Given the description of an element on the screen output the (x, y) to click on. 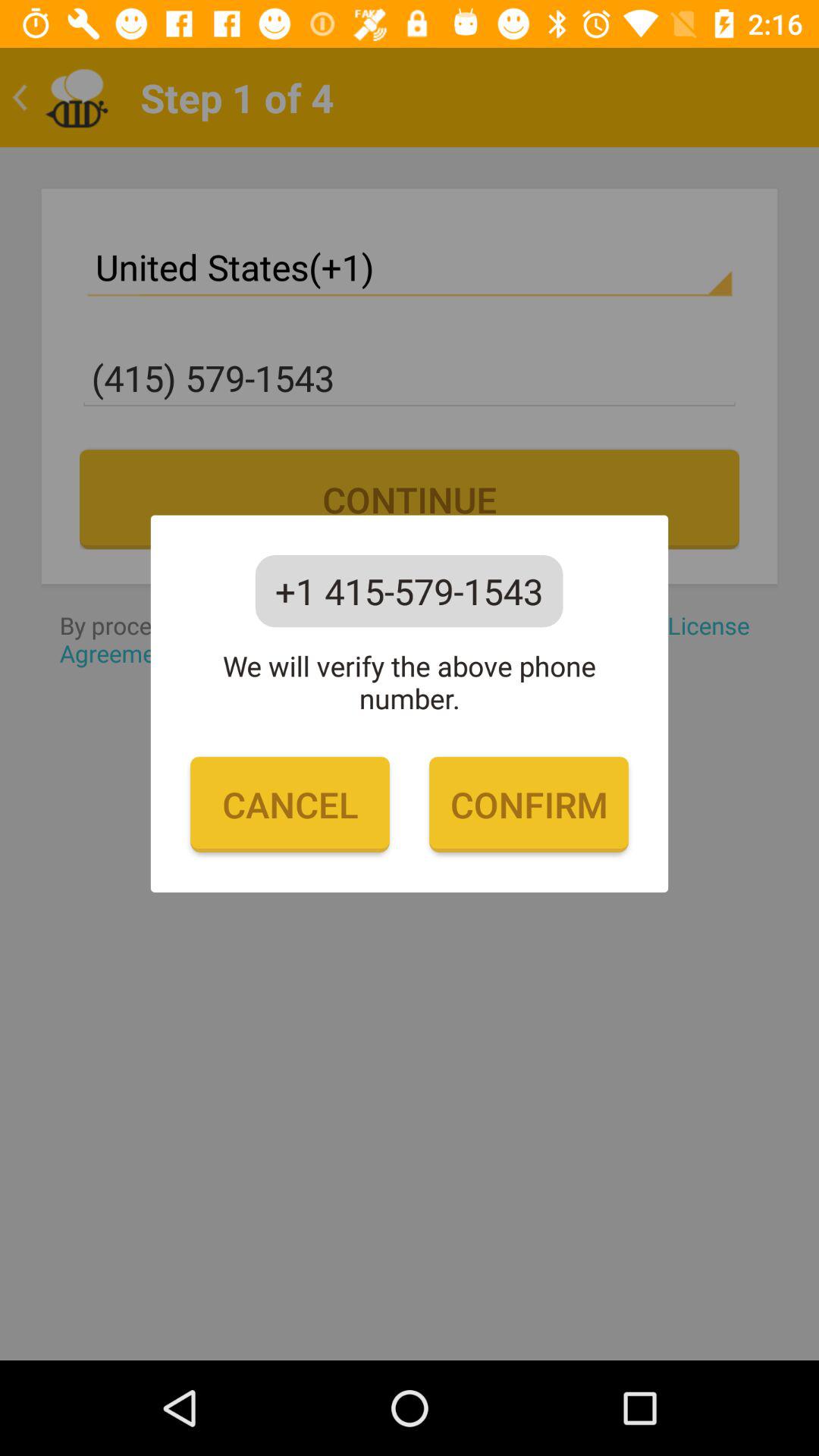
open cancel (289, 804)
